Given the description of an element on the screen output the (x, y) to click on. 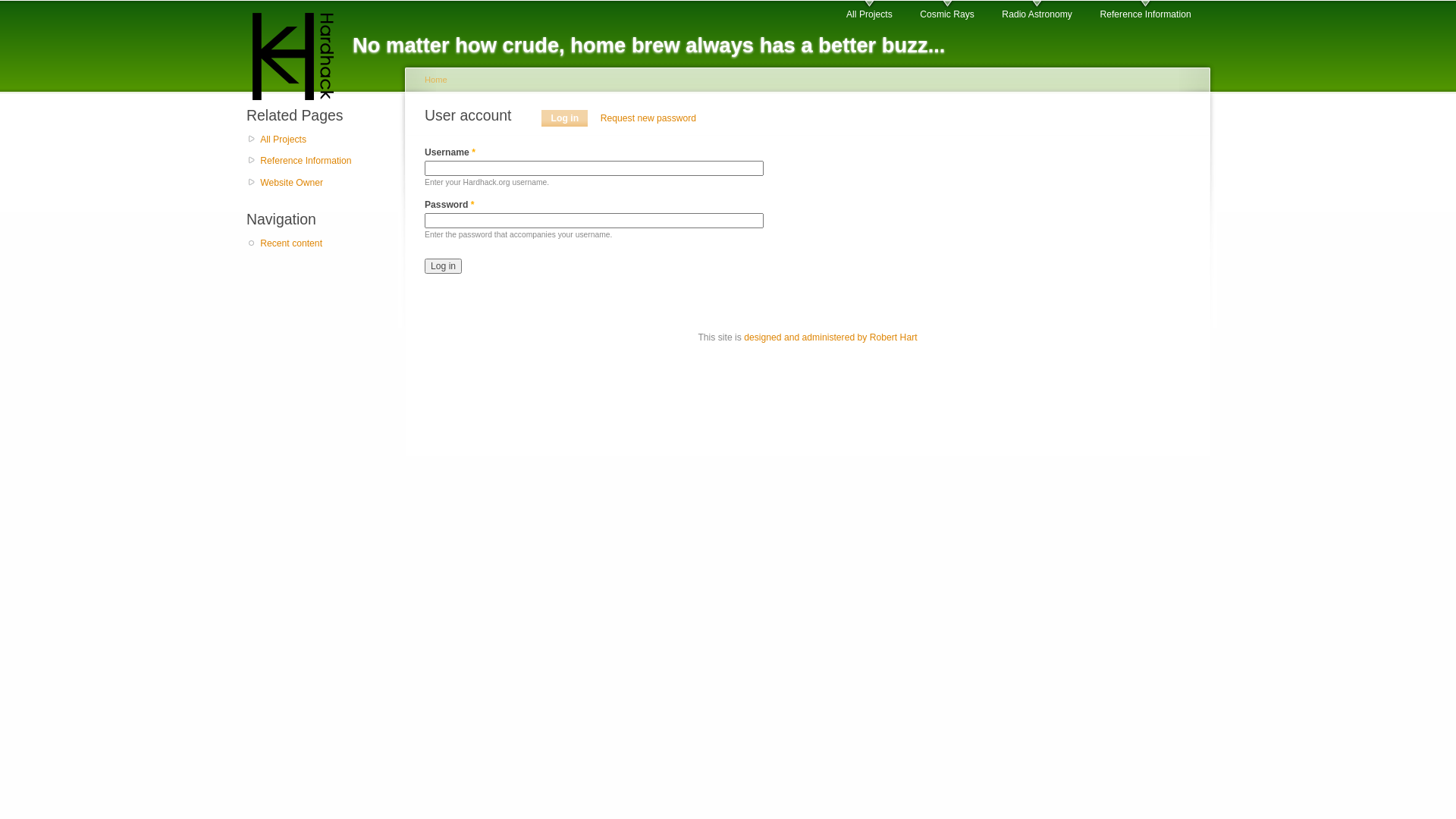
Website Owner Element type: text (324, 183)
Reference Information Element type: text (1144, 11)
designed and administered by Robert Hart Element type: text (829, 337)
 No matter how crude, home brew always has a better buzz... Element type: hover (299, 50)
No matter how crude, home brew always has a better buzz... Element type: text (648, 44)
Log in Element type: text (442, 265)
Reference Information Element type: text (324, 161)
All Projects Element type: text (324, 139)
Request new password Element type: text (648, 117)
Cosmic Rays Element type: text (946, 11)
Recent content Element type: text (324, 243)
All Projects Element type: text (869, 11)
Skip to main content Element type: text (700, 2)
Log in
(active tab) Element type: text (564, 117)
Radio Astronomy Element type: text (1036, 11)
Home Element type: text (435, 79)
